Given the description of an element on the screen output the (x, y) to click on. 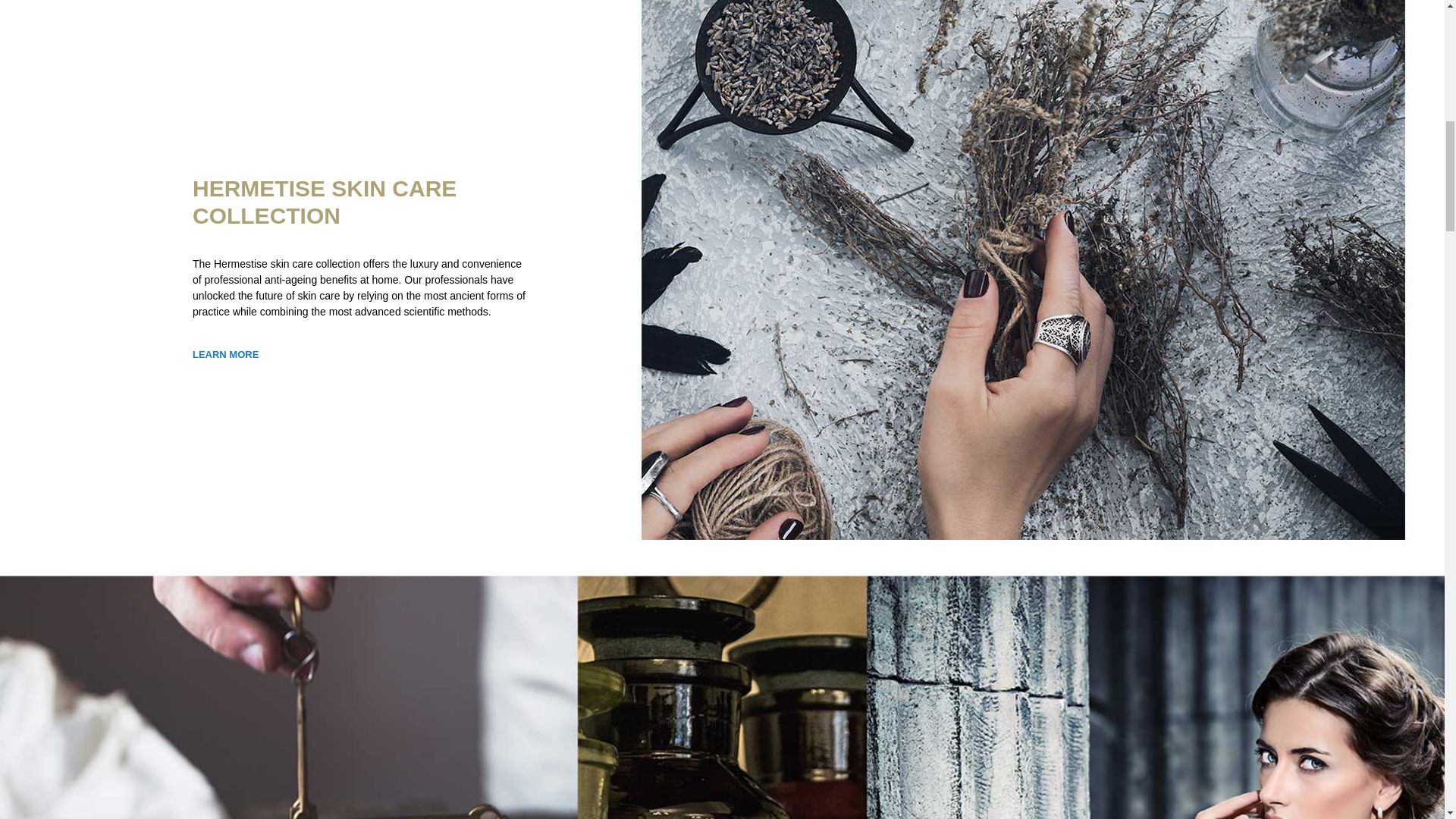
LEARN MORE (225, 354)
